Given the description of an element on the screen output the (x, y) to click on. 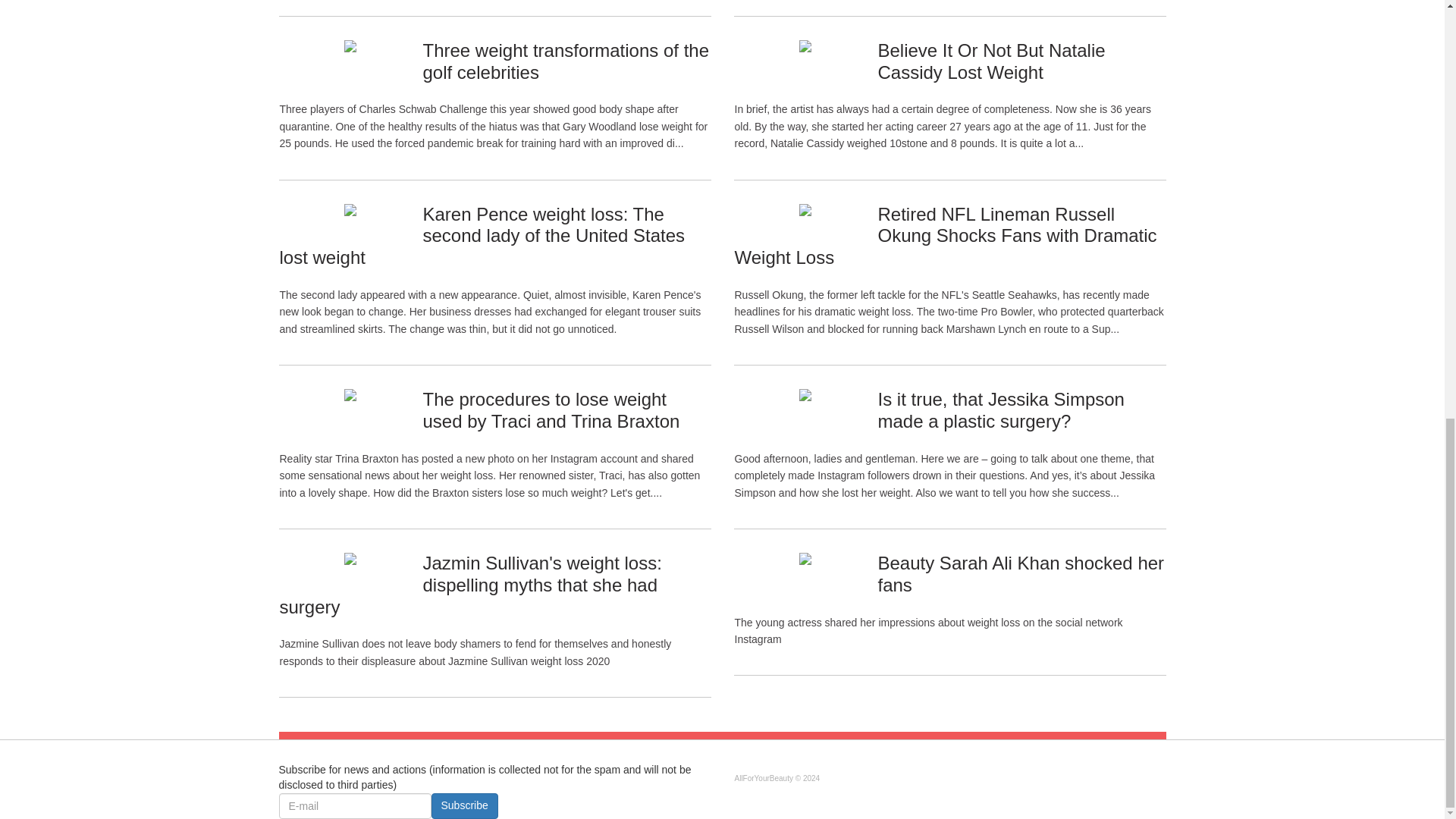
Beauty Sarah Ali Khan shocked her fans (1020, 573)
Is it true, that Jessika Simpson made a plastic surgery? (1000, 410)
Three weight transformations of the golf celebrities (565, 61)
Believe It Or Not But Natalie Cassidy Lost Weight (991, 61)
